Given the description of an element on the screen output the (x, y) to click on. 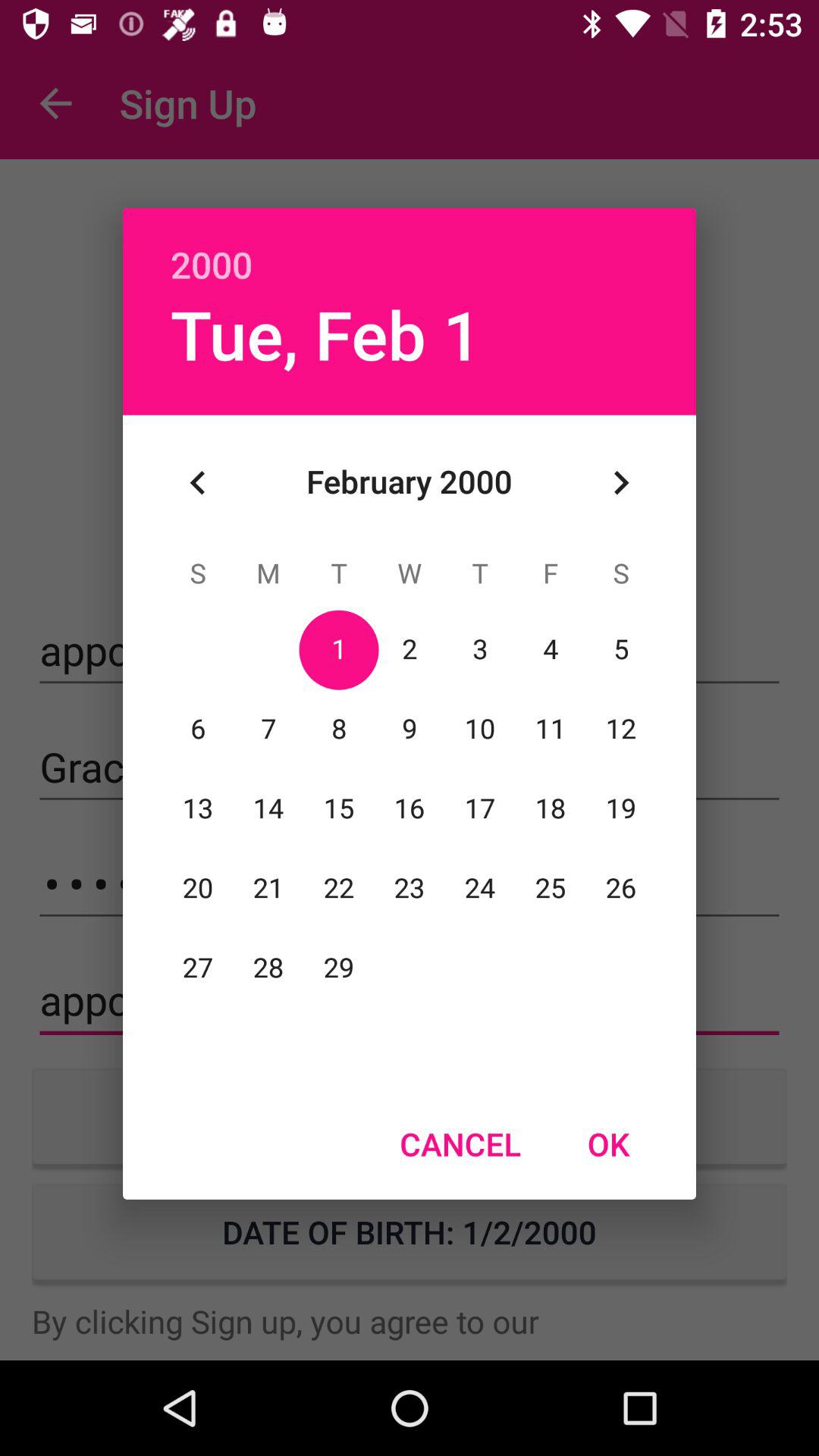
turn off the cancel at the bottom (459, 1143)
